Given the description of an element on the screen output the (x, y) to click on. 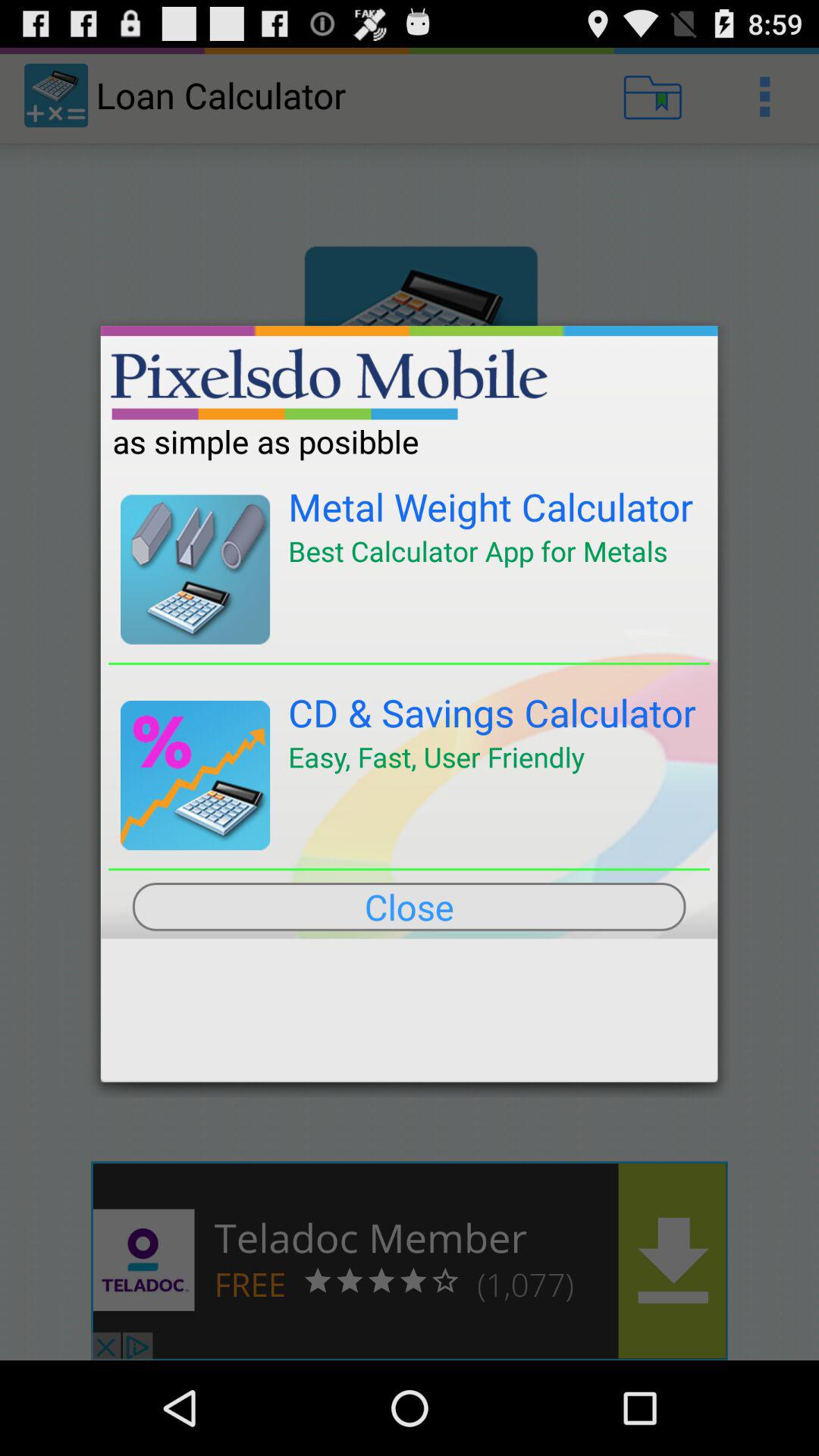
turn on the app below metal weight calculator (477, 550)
